Given the description of an element on the screen output the (x, y) to click on. 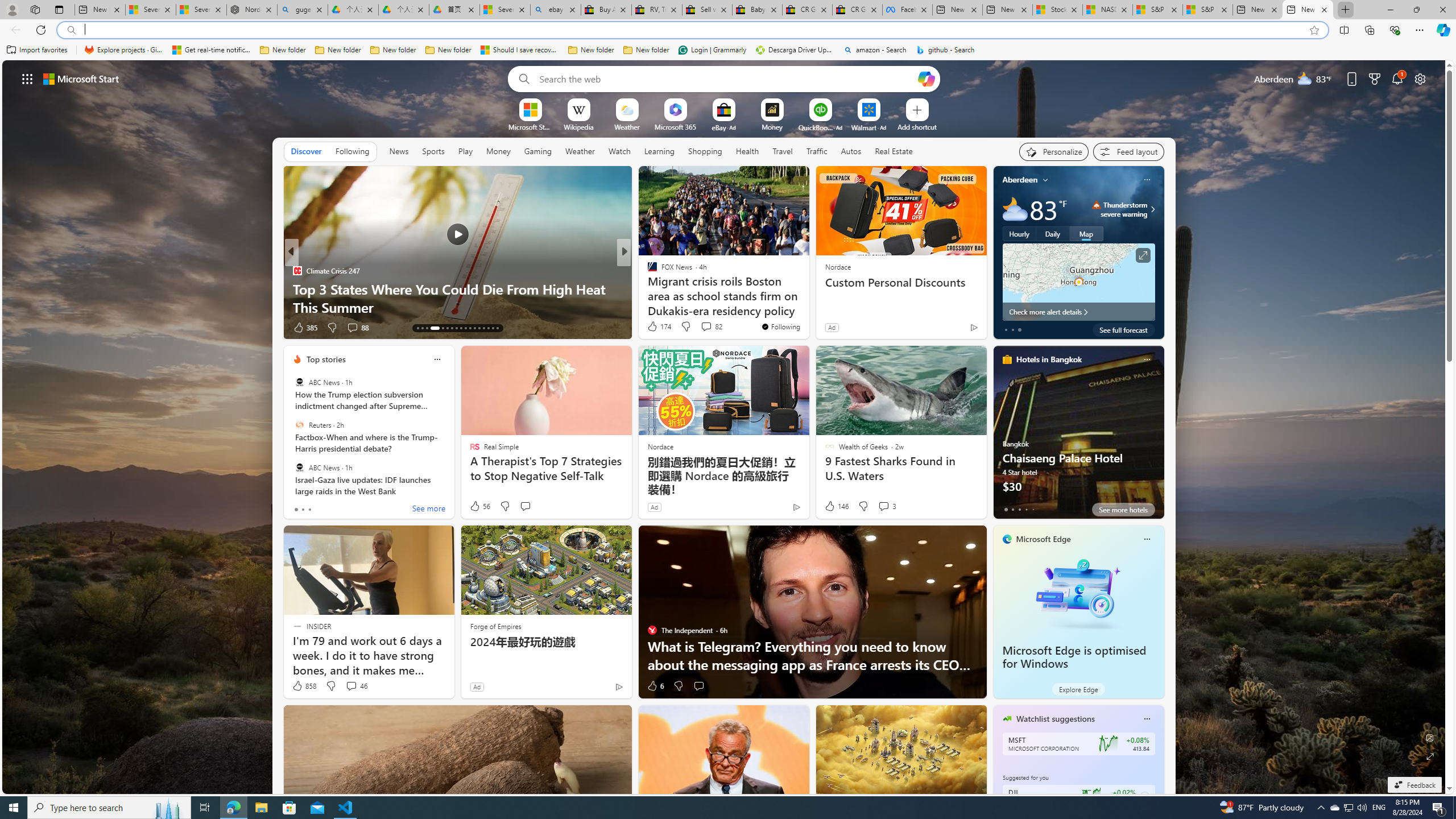
My location (1045, 179)
Class: control (27, 78)
Larger map  (1077, 282)
Xiaoyun Pearl (647, 270)
Money (497, 151)
Chaisaeng Palace Hotel (1078, 436)
Sports (432, 151)
Class: icon-img (1146, 718)
858 Like (303, 685)
View comments 1 Comment (702, 327)
AutomationID: tab-29 (497, 328)
